Given the description of an element on the screen output the (x, y) to click on. 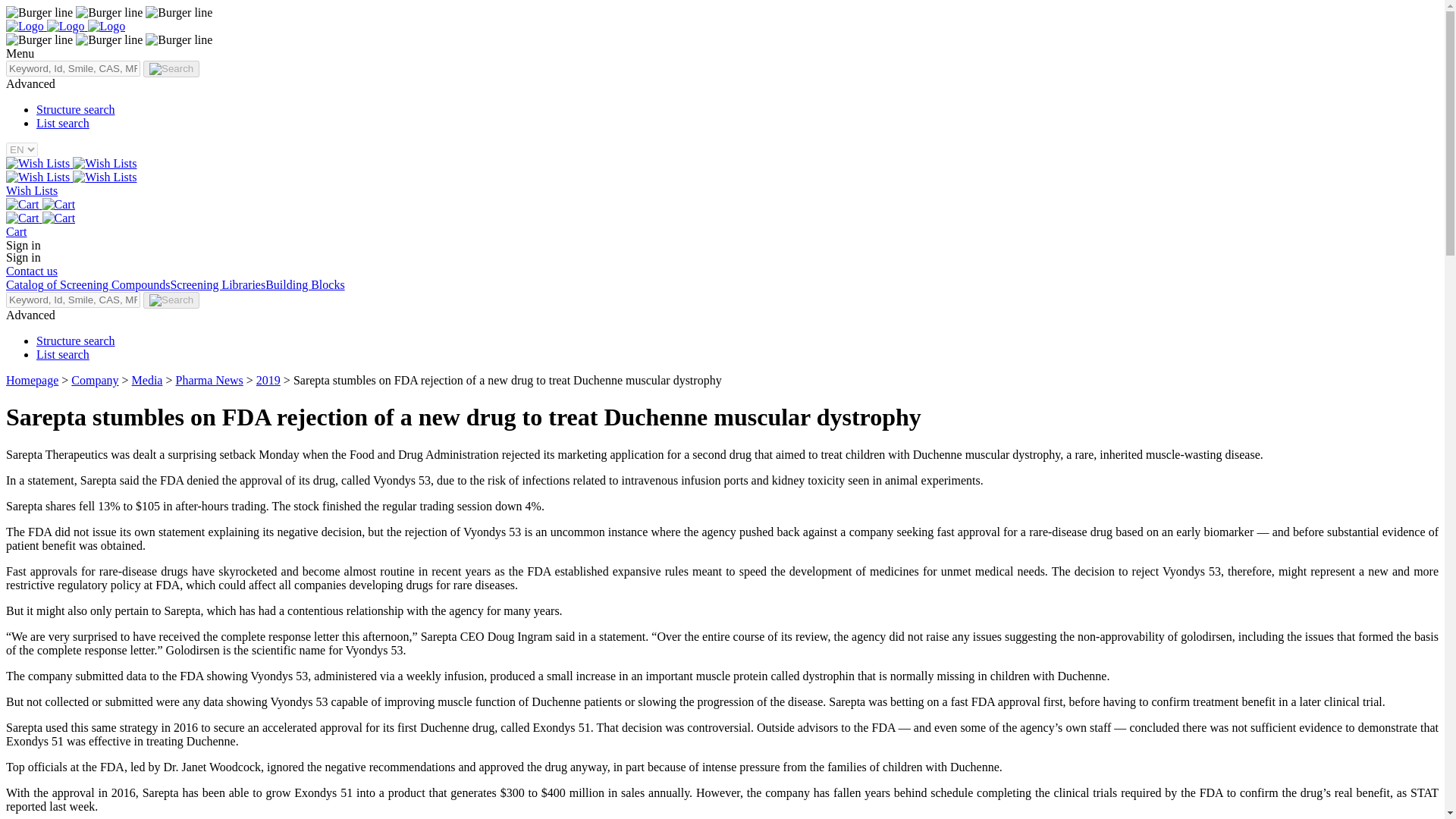
ChemDiv. The chemistry of cures (65, 26)
ChemDiv. The chemistry of cures (106, 26)
Homepage (31, 379)
Structure search (75, 109)
Contact us (31, 270)
List search (62, 123)
2019 (268, 379)
Media (147, 379)
Building Blocks (303, 284)
Catalog of Screening Compounds (87, 284)
